Given the description of an element on the screen output the (x, y) to click on. 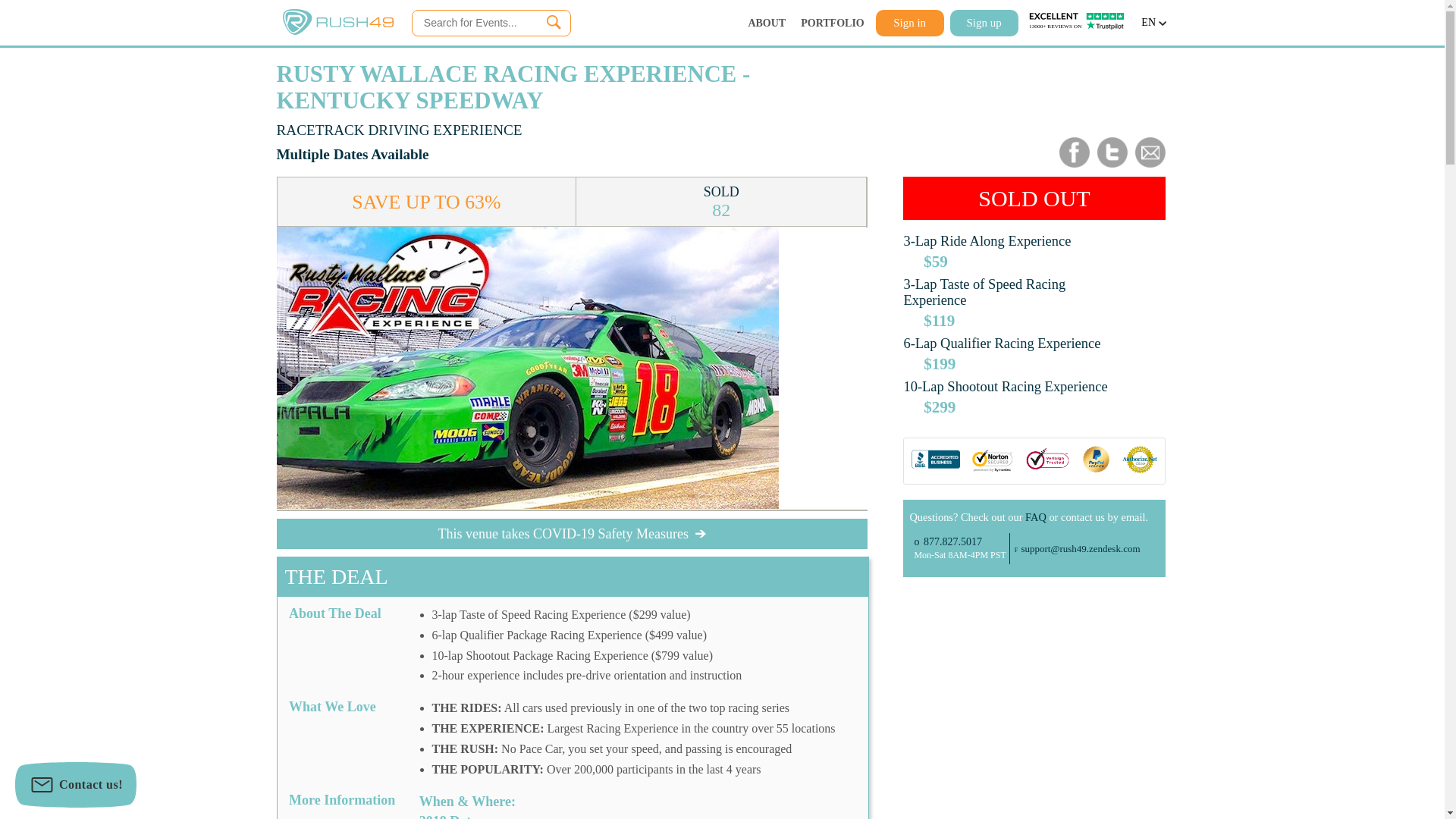
FAQ (1035, 517)
ABOUT US (767, 22)
PORTFOLIO (959, 548)
PORTFOLIO (832, 22)
Tweet It (832, 22)
Rush49 Home Page (1111, 163)
Sign up (337, 31)
Rusty Wallace Racing Experience  Rush49 Sparta (983, 22)
ABOUT (909, 22)
Share your personal link on Facebook (767, 22)
Share with Email (1073, 163)
